Given the description of an element on the screen output the (x, y) to click on. 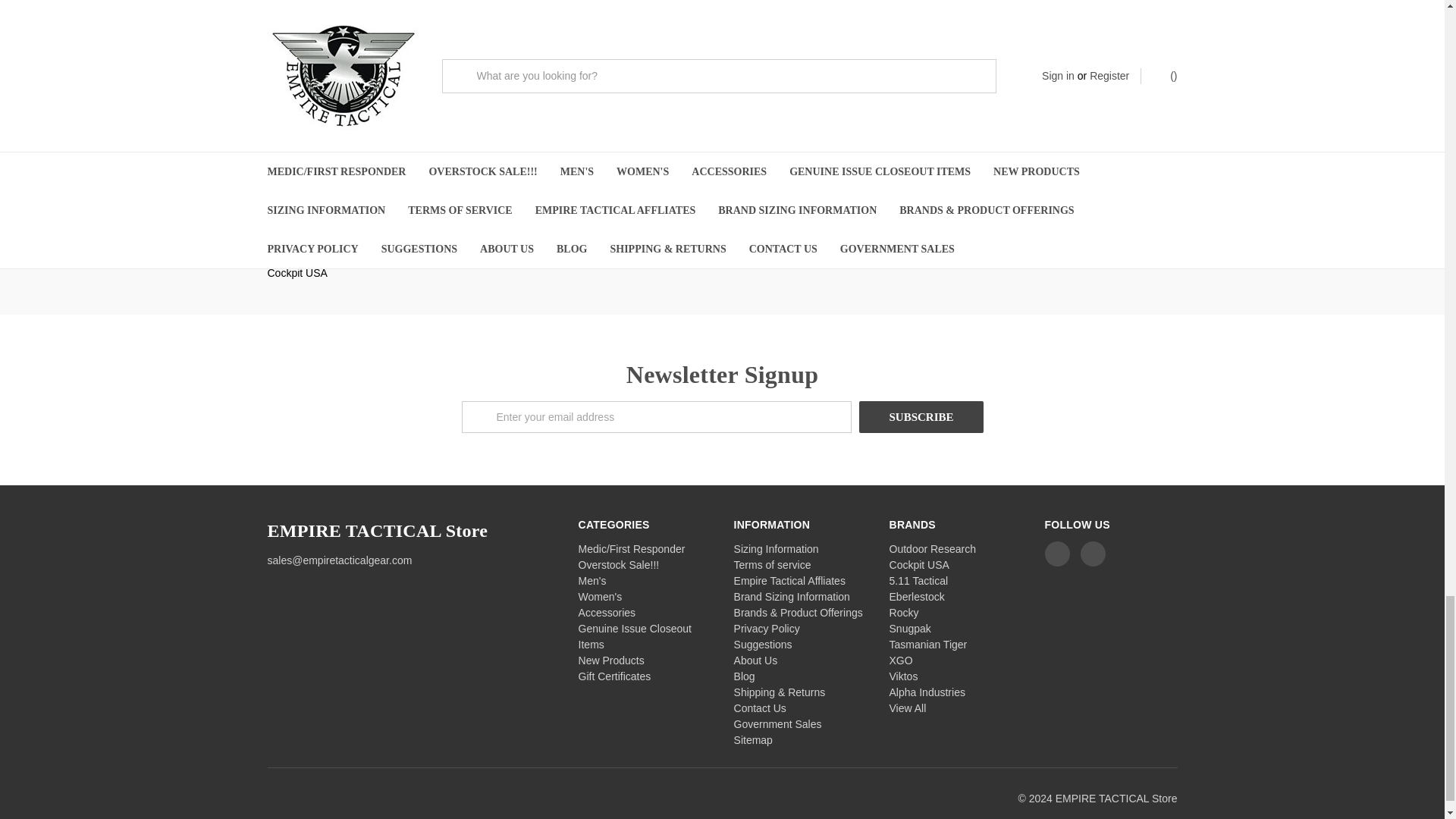
Subscribe (920, 417)
